Given the description of an element on the screen output the (x, y) to click on. 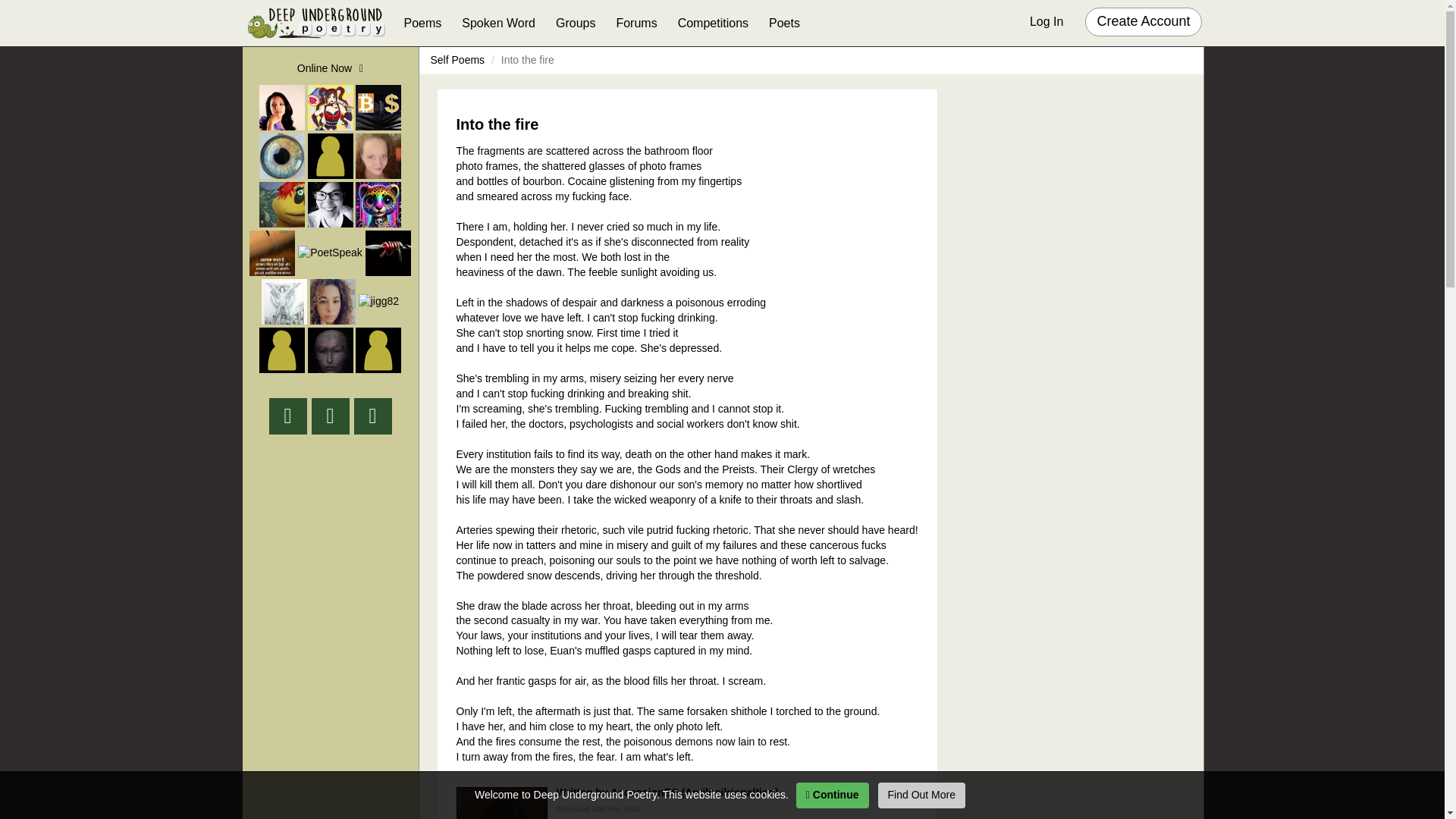
Debdeb (330, 107)
Spoken Word (498, 23)
eyesofdisguide (281, 156)
AscensionES (502, 803)
Log In (1047, 22)
Self Poems (457, 60)
Hotpuffinstuff (281, 204)
Groups (575, 23)
Poets (784, 23)
Her (378, 156)
